Given the description of an element on the screen output the (x, y) to click on. 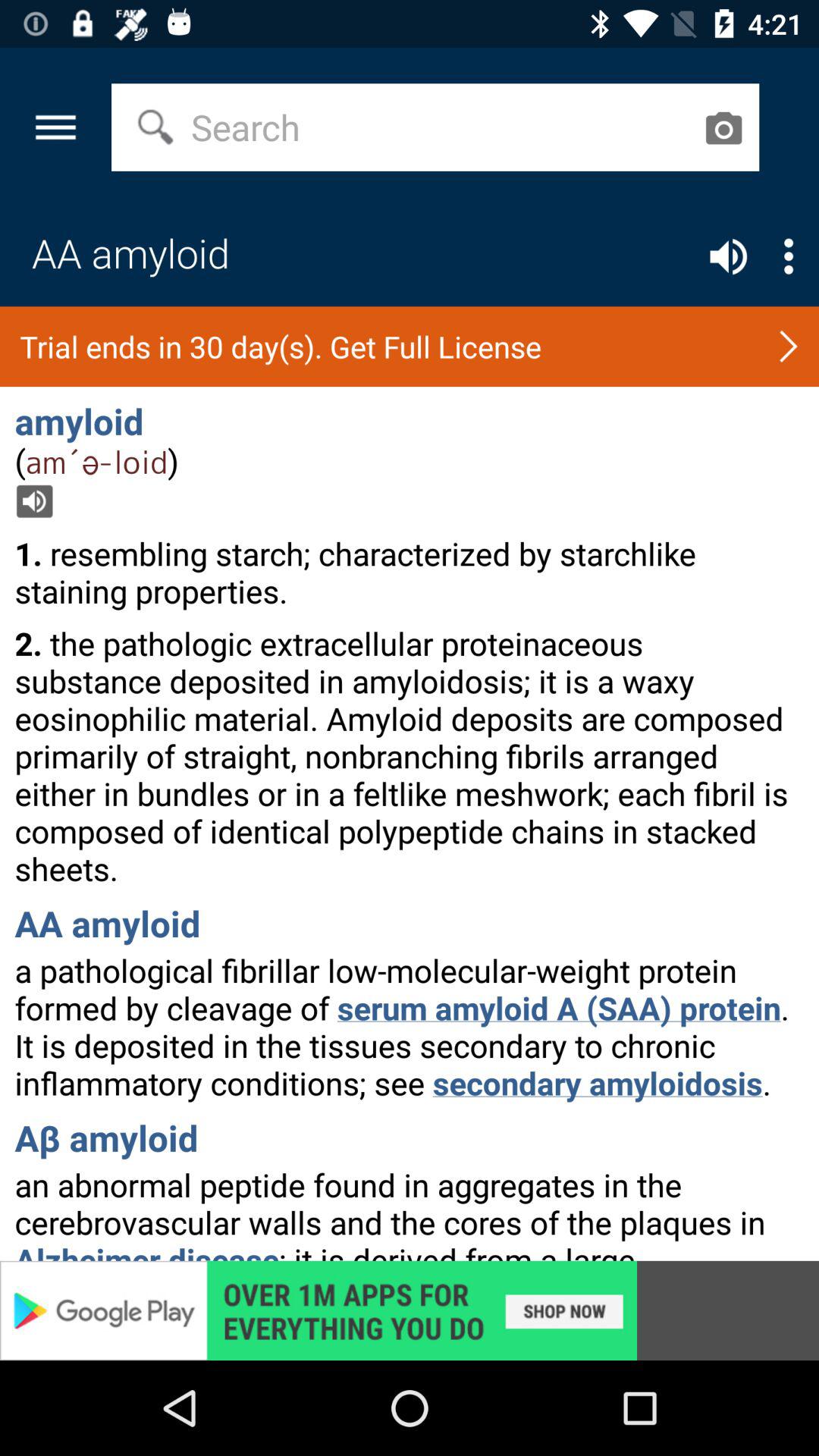
open camera (723, 127)
